Given the description of an element on the screen output the (x, y) to click on. 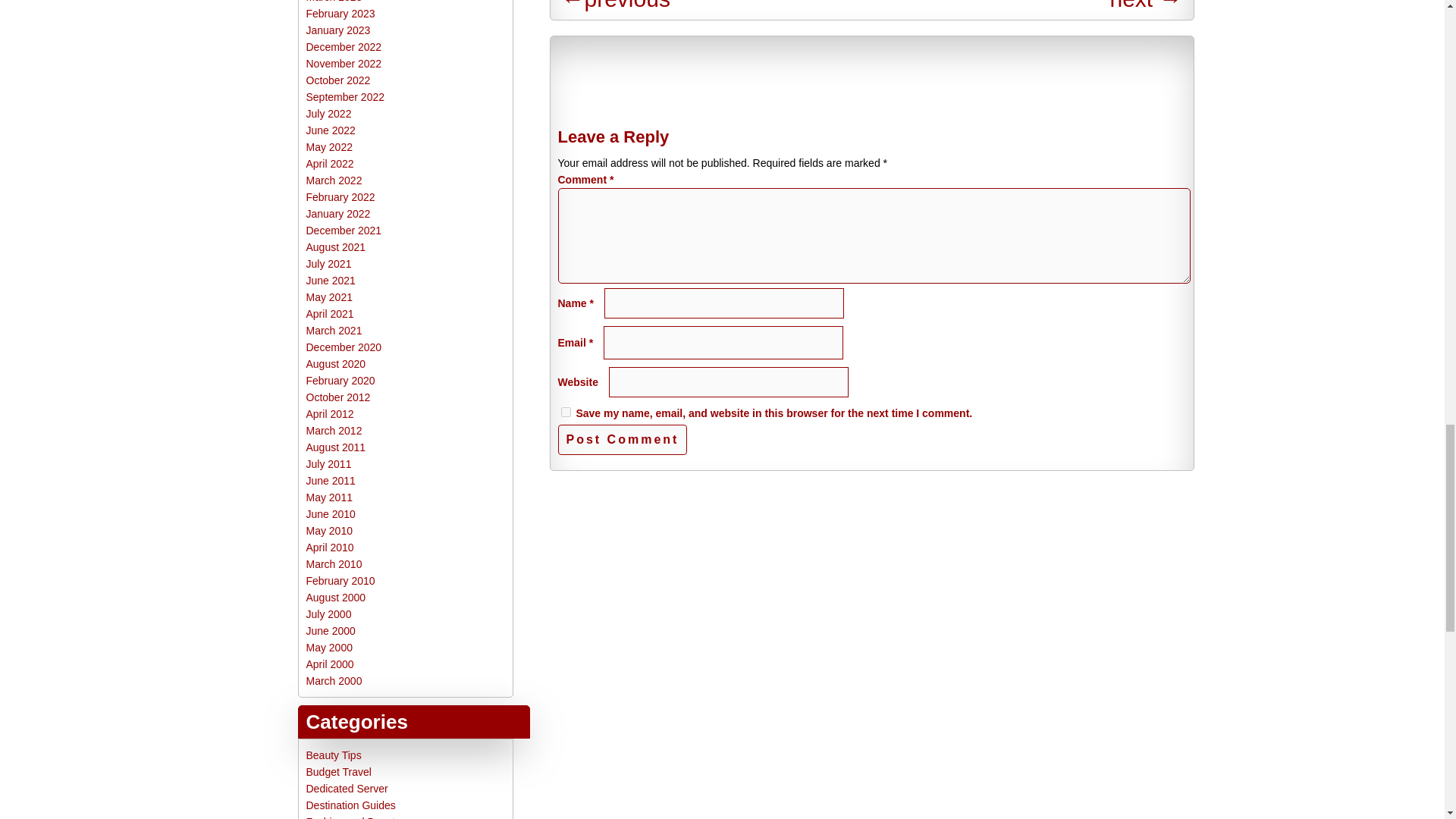
Post Comment (622, 440)
Post Comment (622, 440)
yes (565, 411)
